Given the description of an element on the screen output the (x, y) to click on. 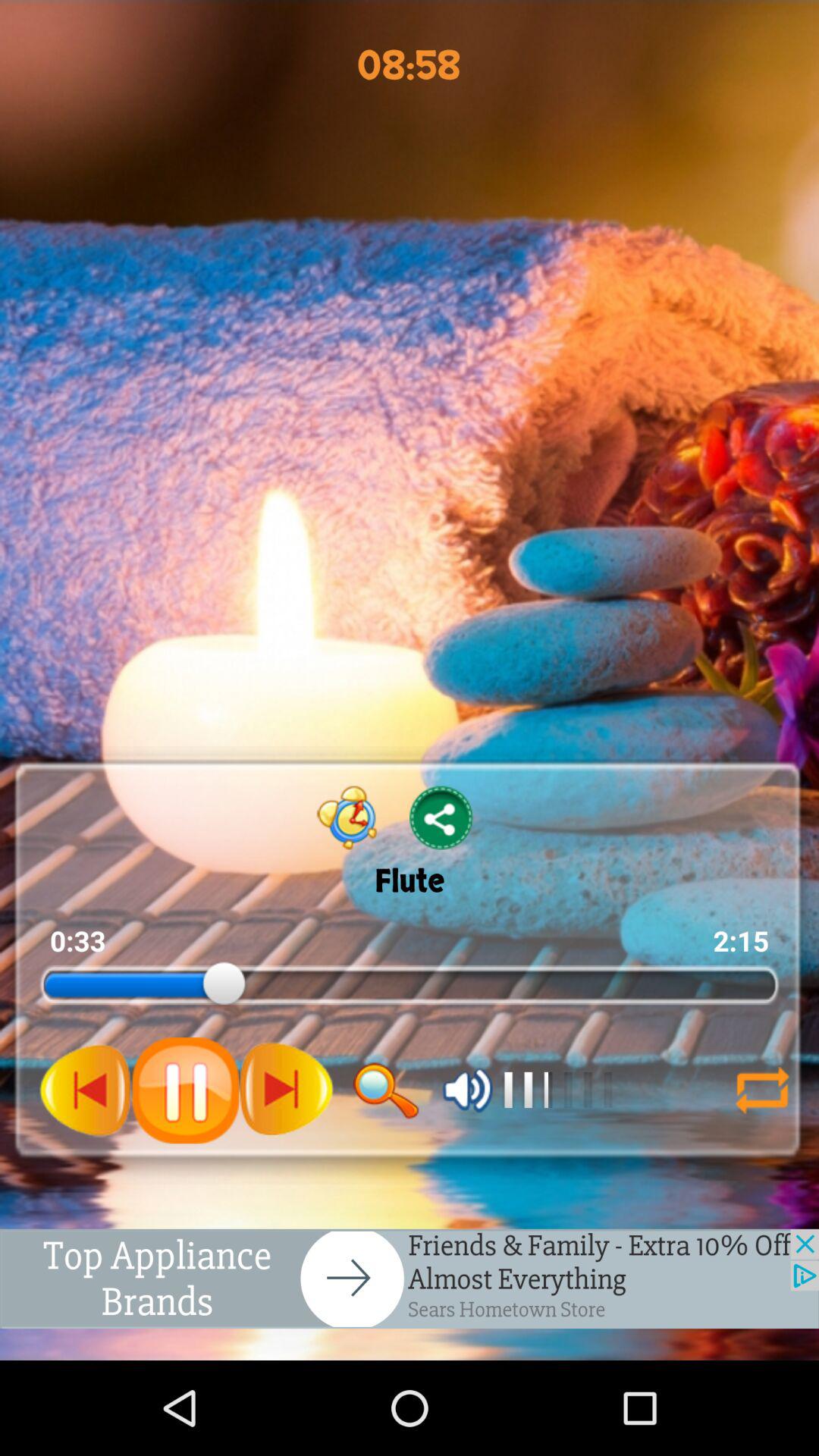
pause (85, 1090)
